Given the description of an element on the screen output the (x, y) to click on. 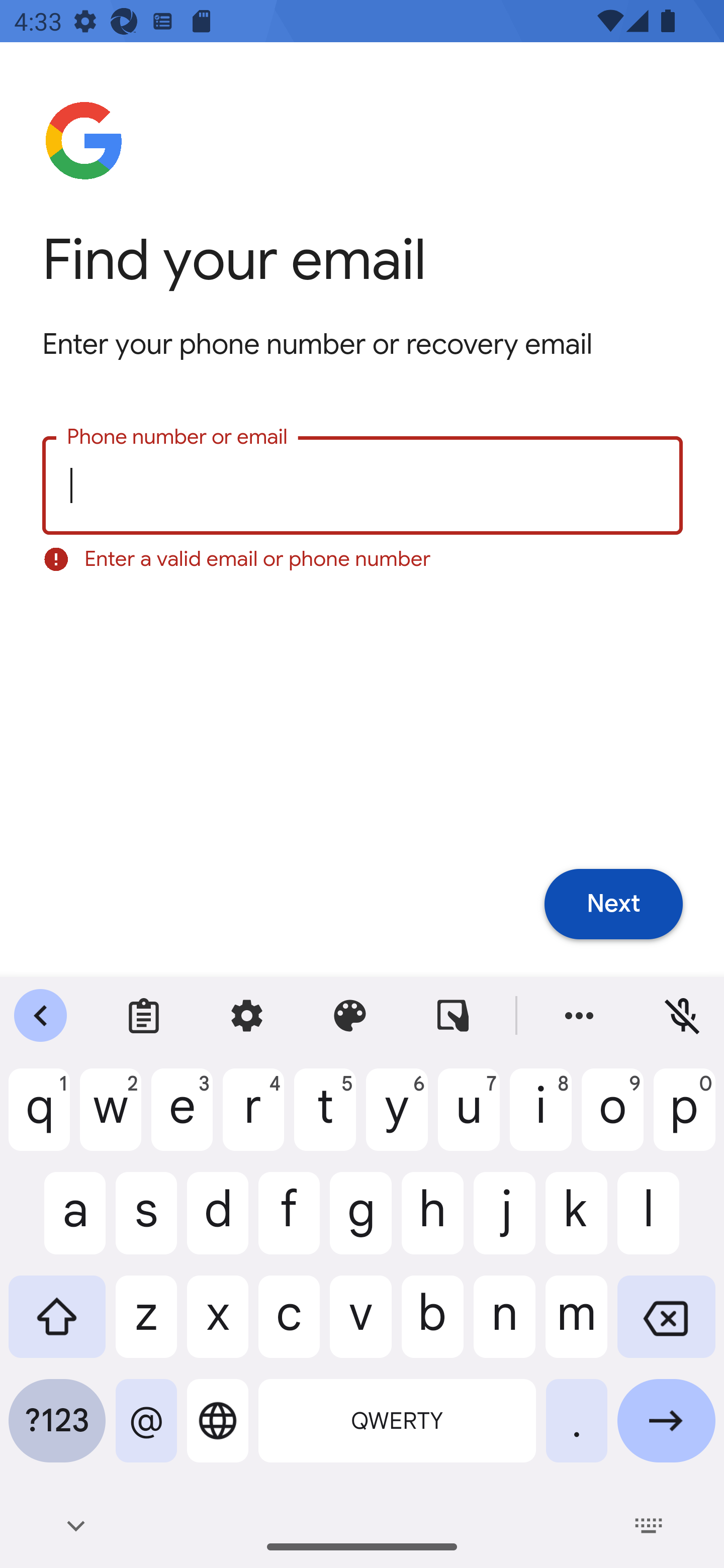
Next (613, 904)
